Given the description of an element on the screen output the (x, y) to click on. 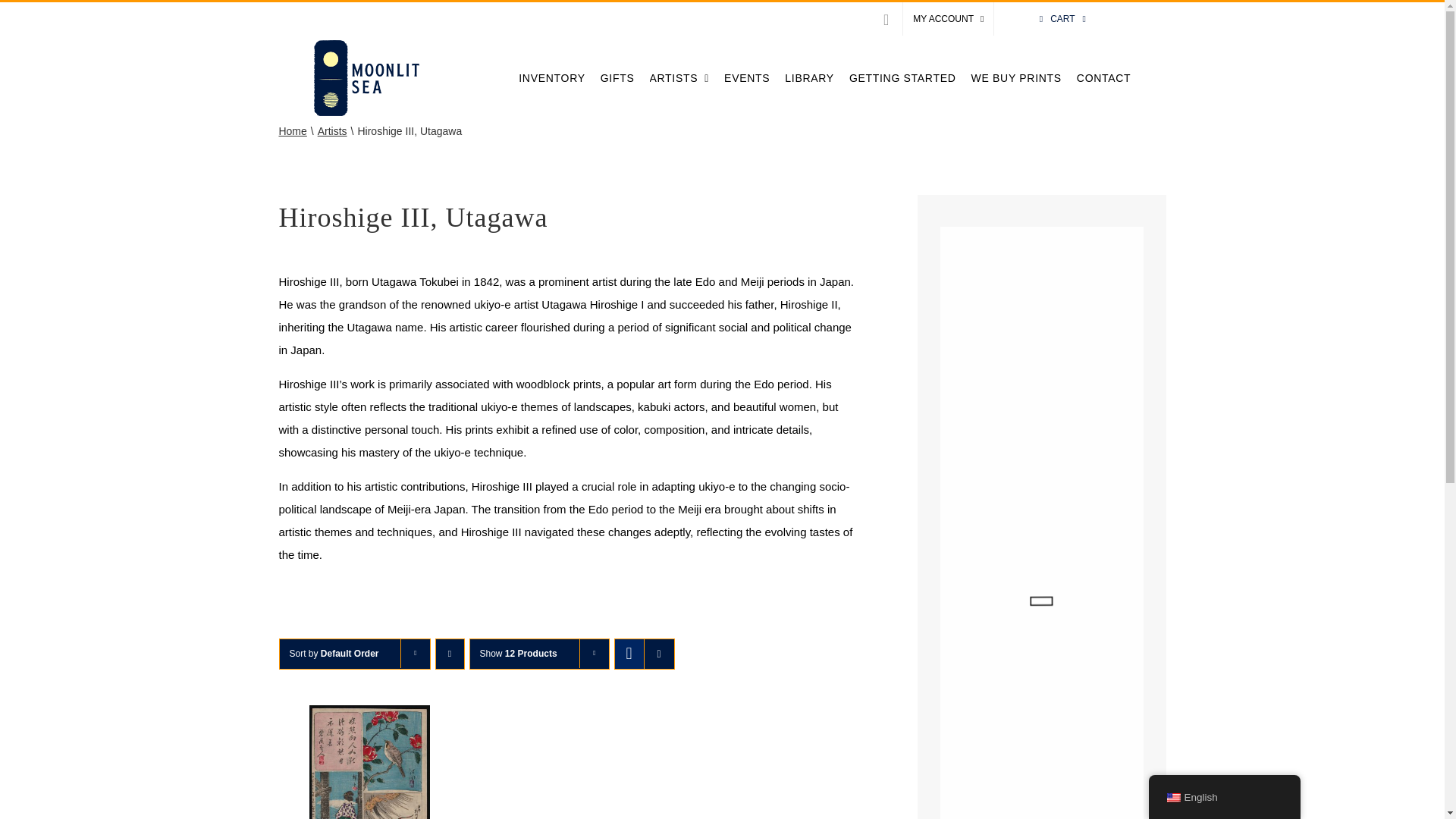
CART (1062, 19)
MY ACCOUNT (947, 19)
English (1172, 797)
GETTING STARTED (902, 77)
Log In (978, 167)
WE BUY PRINTS (1016, 77)
